Given the description of an element on the screen output the (x, y) to click on. 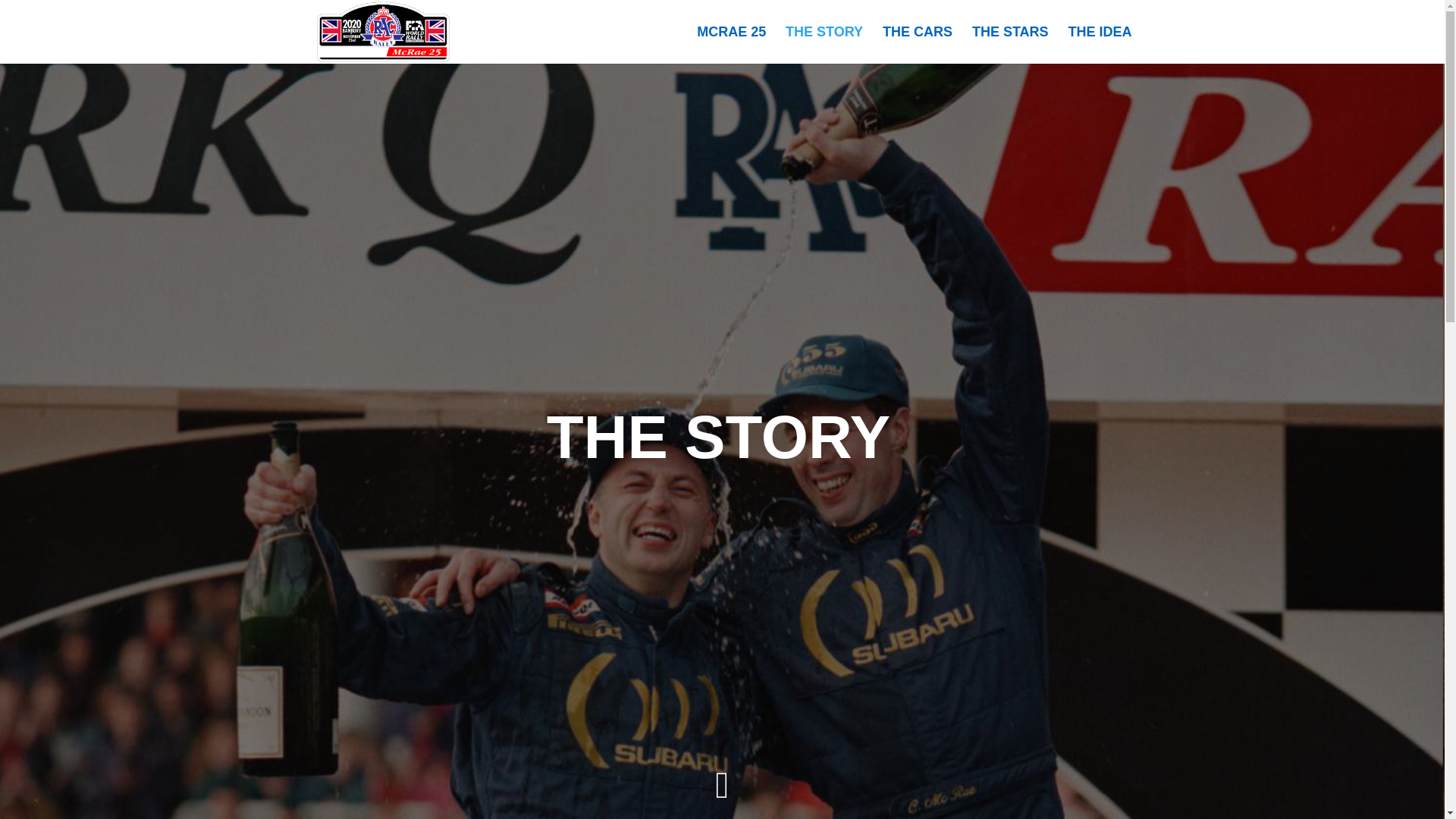
THE CARS (917, 44)
THE STARS (1010, 44)
MCRAE 25 (731, 44)
THE IDEA (1099, 44)
THE STORY (824, 44)
